Given the description of an element on the screen output the (x, y) to click on. 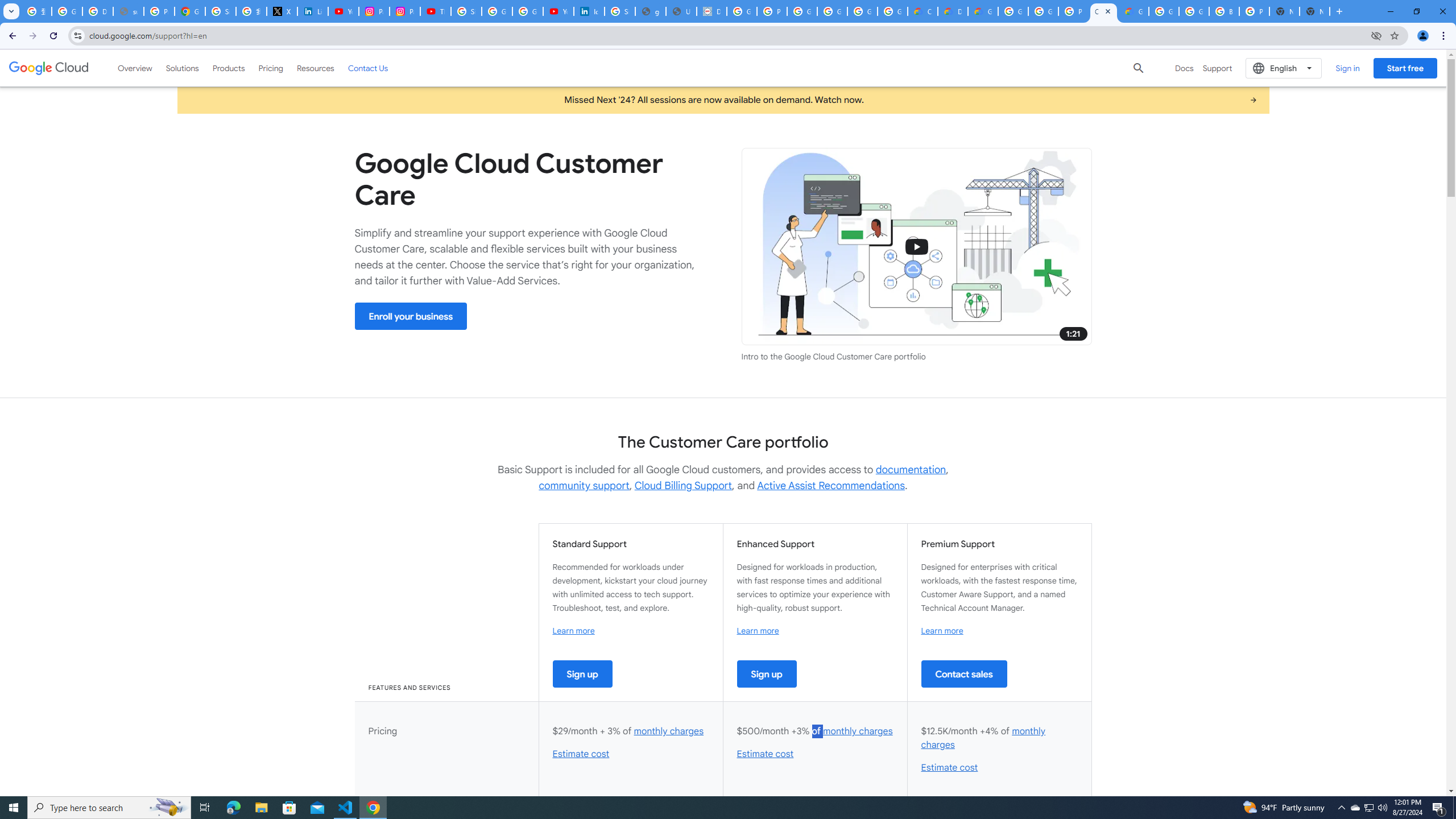
Customer Care | Google Cloud (1103, 11)
Sign up (766, 673)
Products (228, 67)
Google Cloud (48, 67)
Active Assist Recommendations (830, 485)
Estimate cost (949, 767)
